Given the description of an element on the screen output the (x, y) to click on. 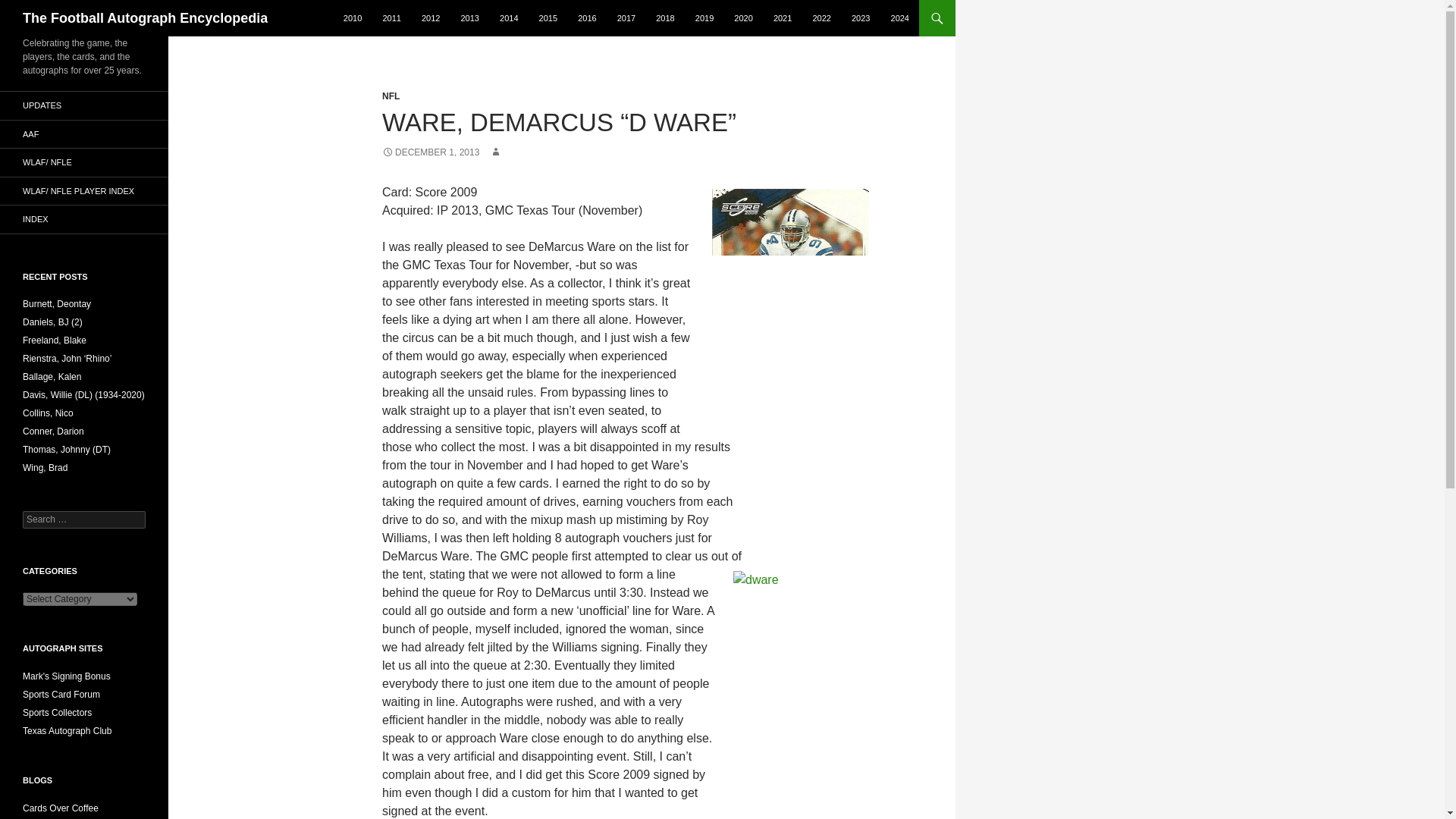
NFL (389, 95)
2020 (743, 18)
2021 (782, 18)
great site to help supplement autograph collecting (57, 712)
DECEMBER 1, 2013 (430, 152)
2024 (900, 18)
2015 (547, 18)
2013 (469, 18)
A fellow TTM collector (66, 675)
A daily blog about the world of trading cards (61, 808)
2016 (587, 18)
2019 (703, 18)
AAF (84, 133)
2012 (430, 18)
2018 (664, 18)
